Given the description of an element on the screen output the (x, y) to click on. 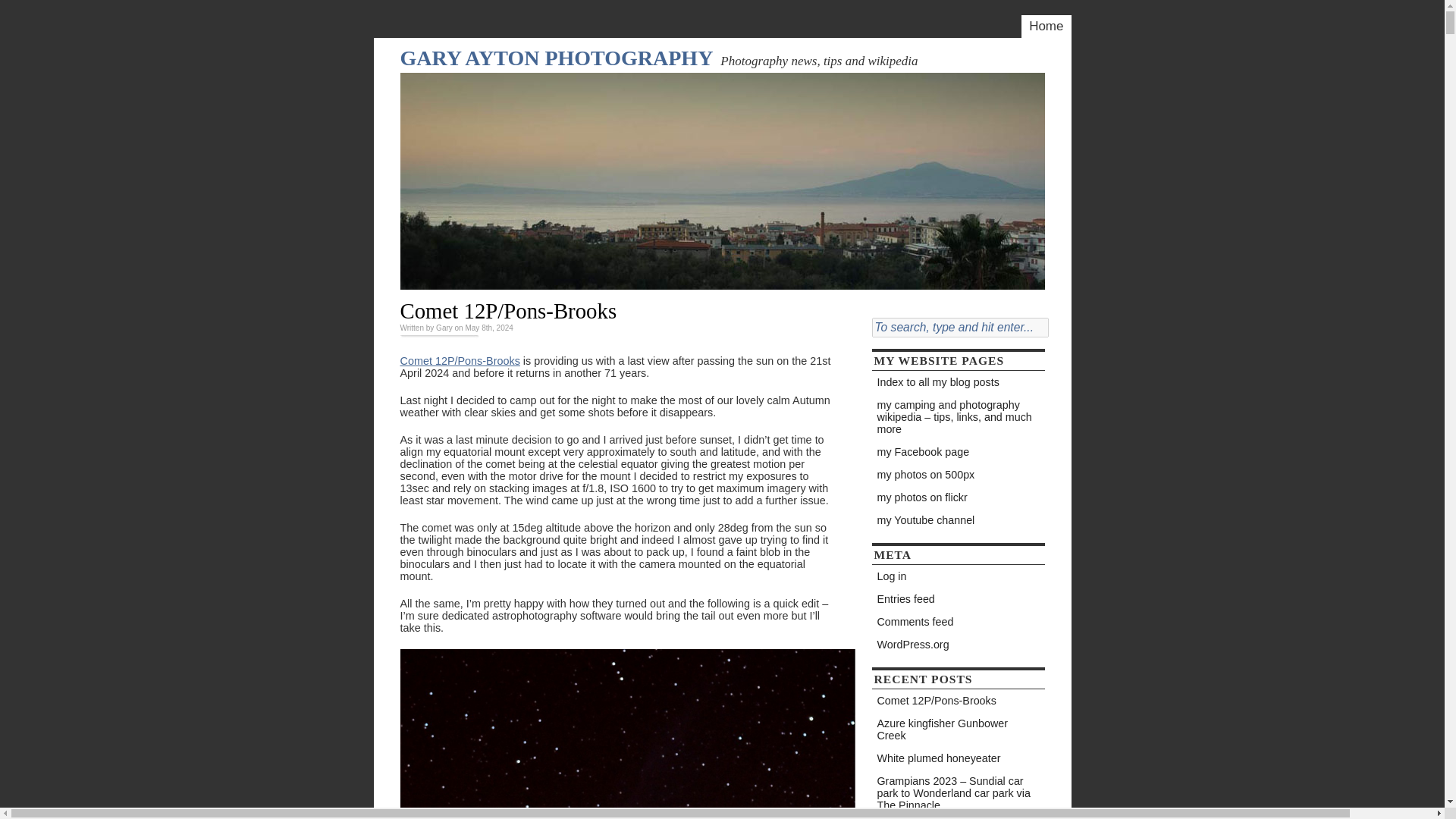
Home (1046, 26)
Home (1046, 26)
GARY AYTON PHOTOGRAPHY (556, 57)
To search, type and hit enter... (960, 327)
